Given the description of an element on the screen output the (x, y) to click on. 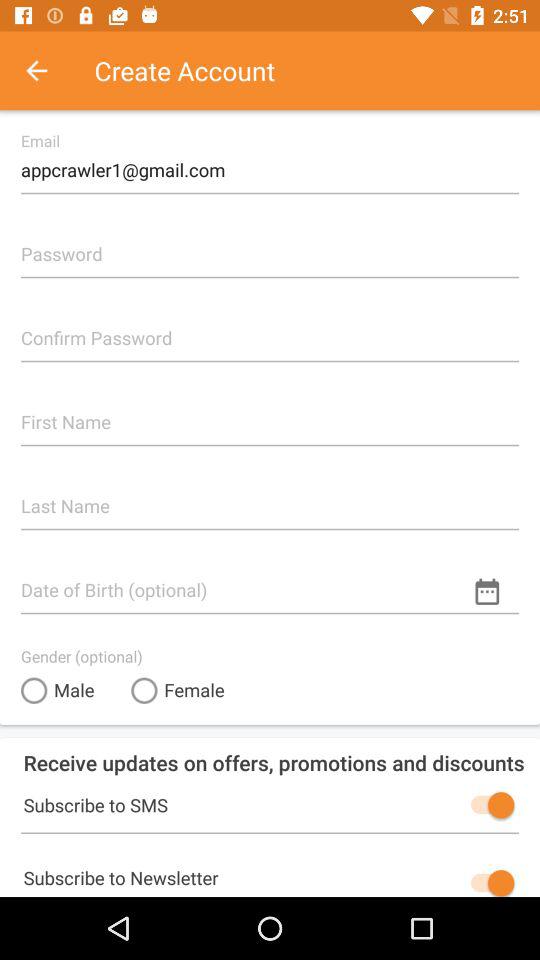
toggle sms subscription (487, 805)
